Given the description of an element on the screen output the (x, y) to click on. 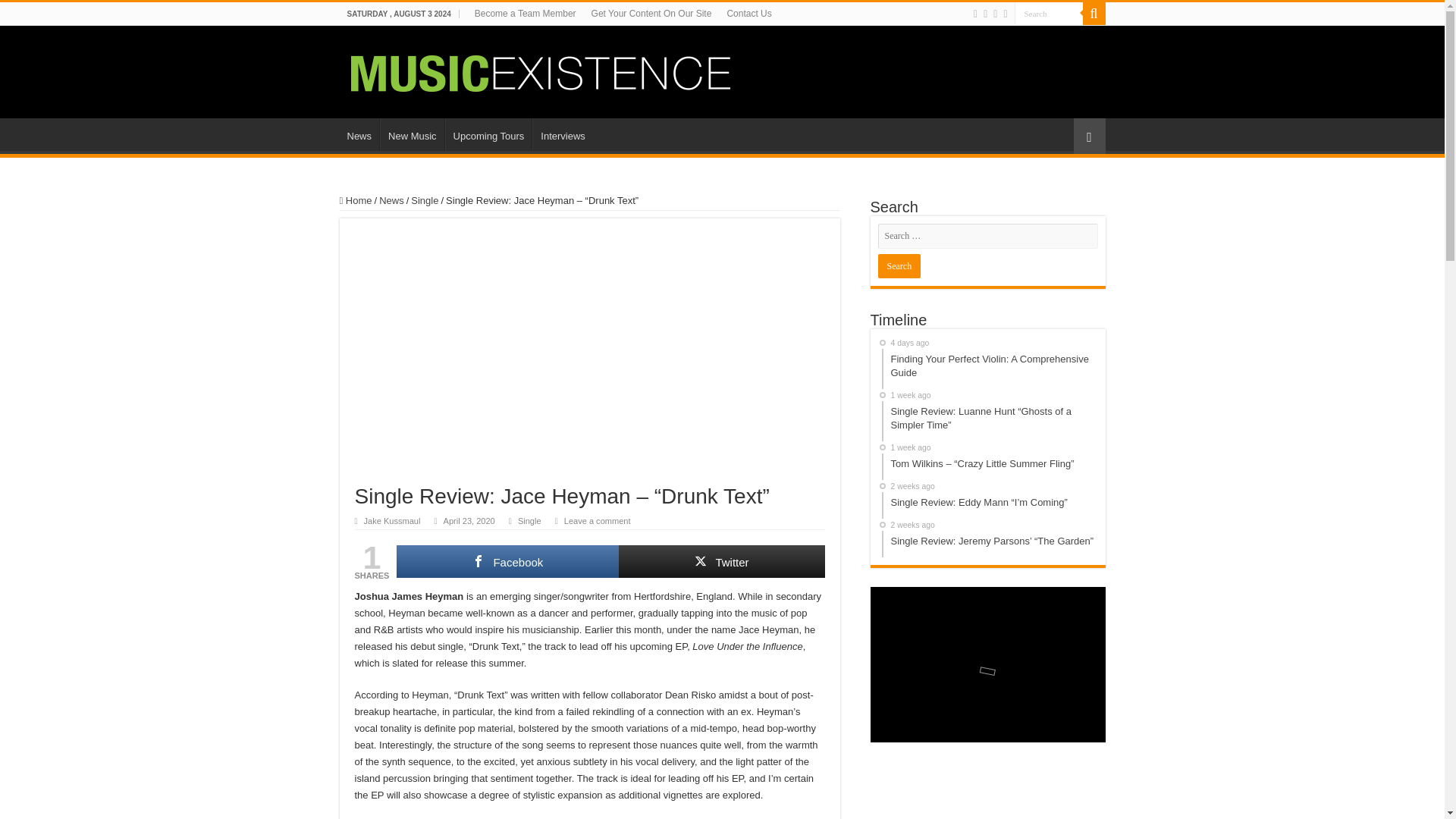
Single (529, 520)
Music Existence (539, 70)
Upcoming Tours (488, 133)
Facebook (507, 561)
Jake Kussmaul (392, 520)
Search (1048, 13)
Contact Us (748, 13)
Interviews (562, 133)
Home (355, 200)
Search (899, 265)
News (391, 200)
Random Article (1089, 135)
Twitter (721, 561)
Search (1048, 13)
Leave a comment (603, 520)
